Given the description of an element on the screen output the (x, y) to click on. 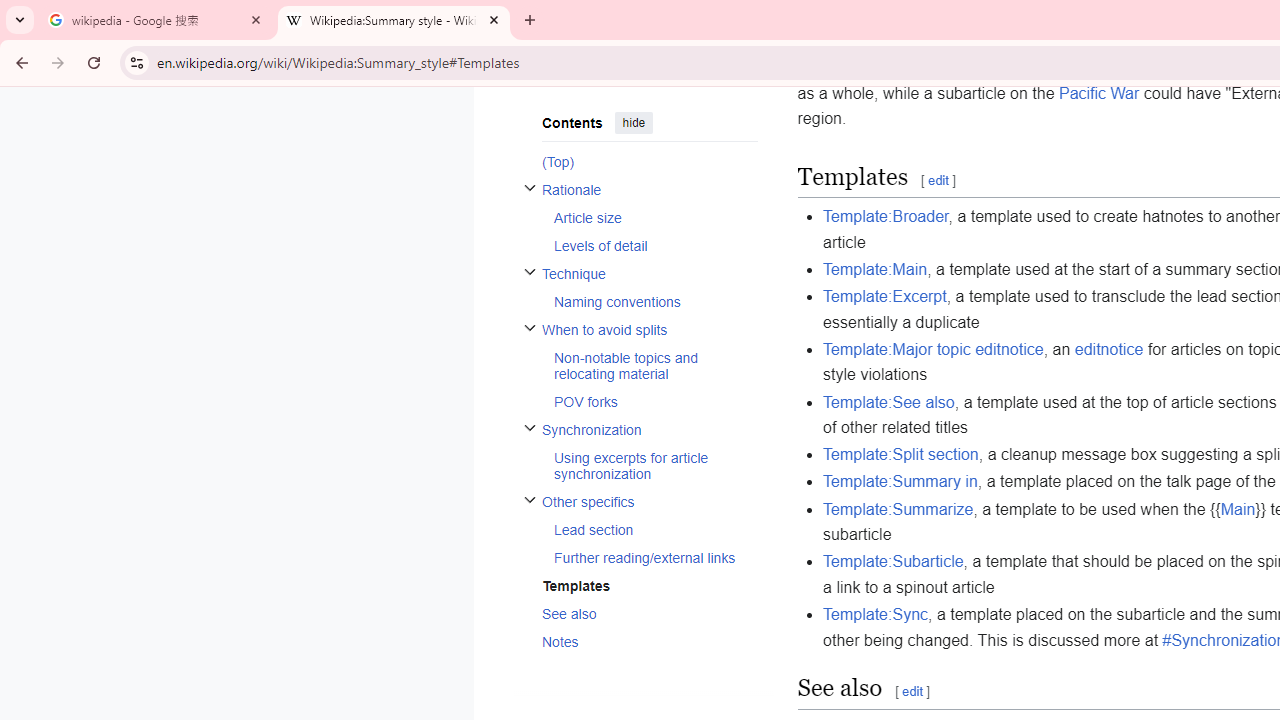
POV forks (654, 401)
Template:Excerpt (885, 296)
AutomationID: toc-Templates (642, 584)
hide (633, 122)
See also (649, 613)
AutomationID: toc-When_to_avoid_splits (642, 365)
(Top) (649, 160)
Toggle When to avoid splits subsection (529, 327)
Template:Main (875, 268)
AutomationID: toc-Lead_section (649, 529)
Technique (649, 273)
